Given the description of an element on the screen output the (x, y) to click on. 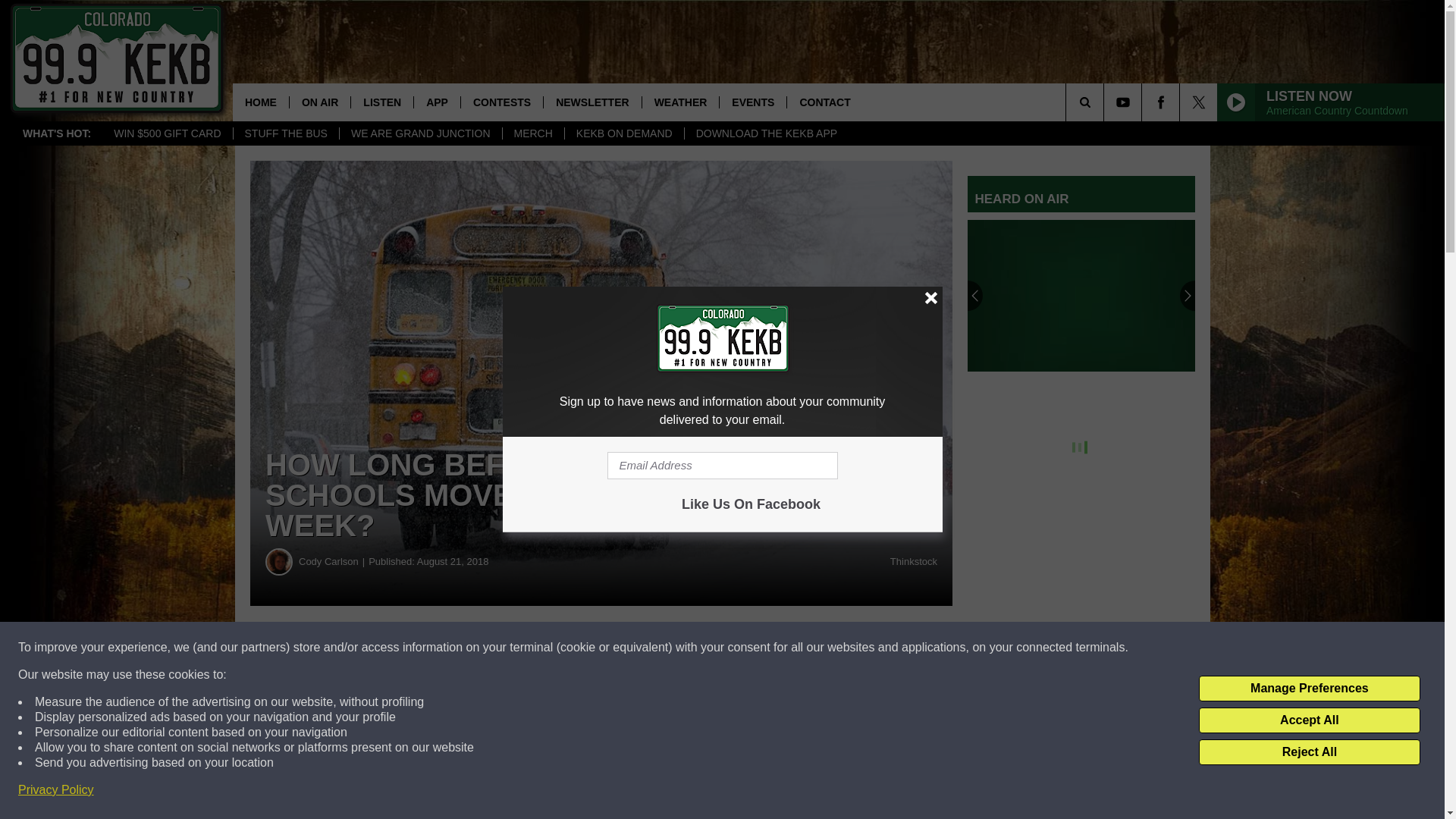
SEARCH (1106, 102)
WE ARE GRAND JUNCTION (420, 133)
SEARCH (1106, 102)
Share on Twitter (741, 647)
DOWNLOAD THE KEKB APP (766, 133)
Email Address (722, 465)
Accept All (1309, 720)
LISTEN (381, 102)
Reject All (1309, 751)
WHAT'S HOT: (56, 133)
MERCH (533, 133)
HOME (260, 102)
CONTESTS (501, 102)
ON AIR (319, 102)
Share on Facebook (460, 647)
